Given the description of an element on the screen output the (x, y) to click on. 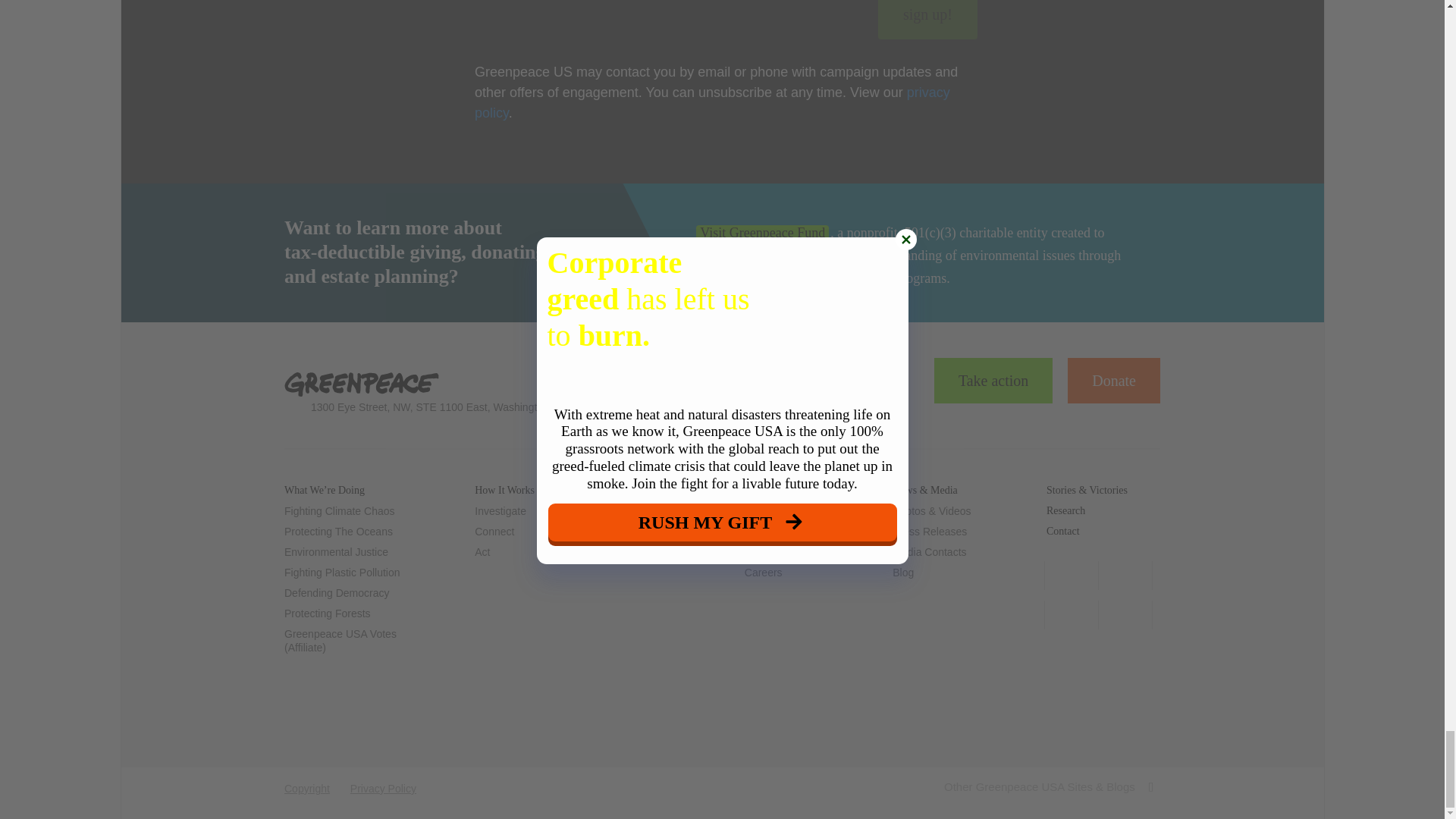
sign up! (926, 19)
